Given the description of an element on the screen output the (x, y) to click on. 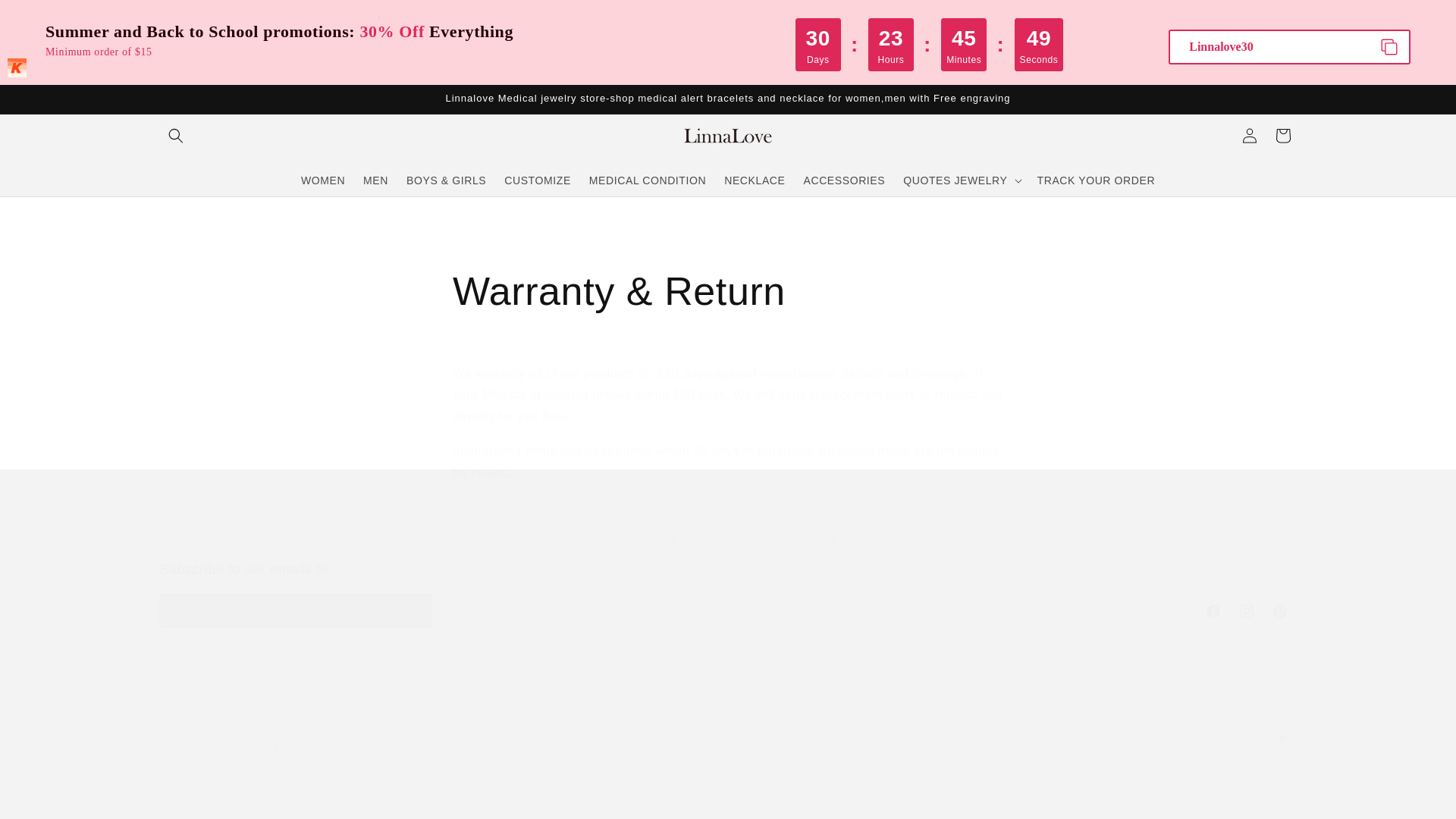
Skip to content (45, 17)
WOMEN (322, 179)
Linnalove30 (1289, 45)
ABOUT US FAQ BLOG USE GUIDE (727, 540)
TRACK YOUR ORDER (1095, 179)
ACCESSORIES (843, 179)
ABOUT US FAQ BLOG USE GUIDE (727, 524)
MEDICAL CONDITION (646, 179)
CUSTOMIZE (537, 179)
NECKLACE (753, 179)
MEN (375, 179)
